Given the description of an element on the screen output the (x, y) to click on. 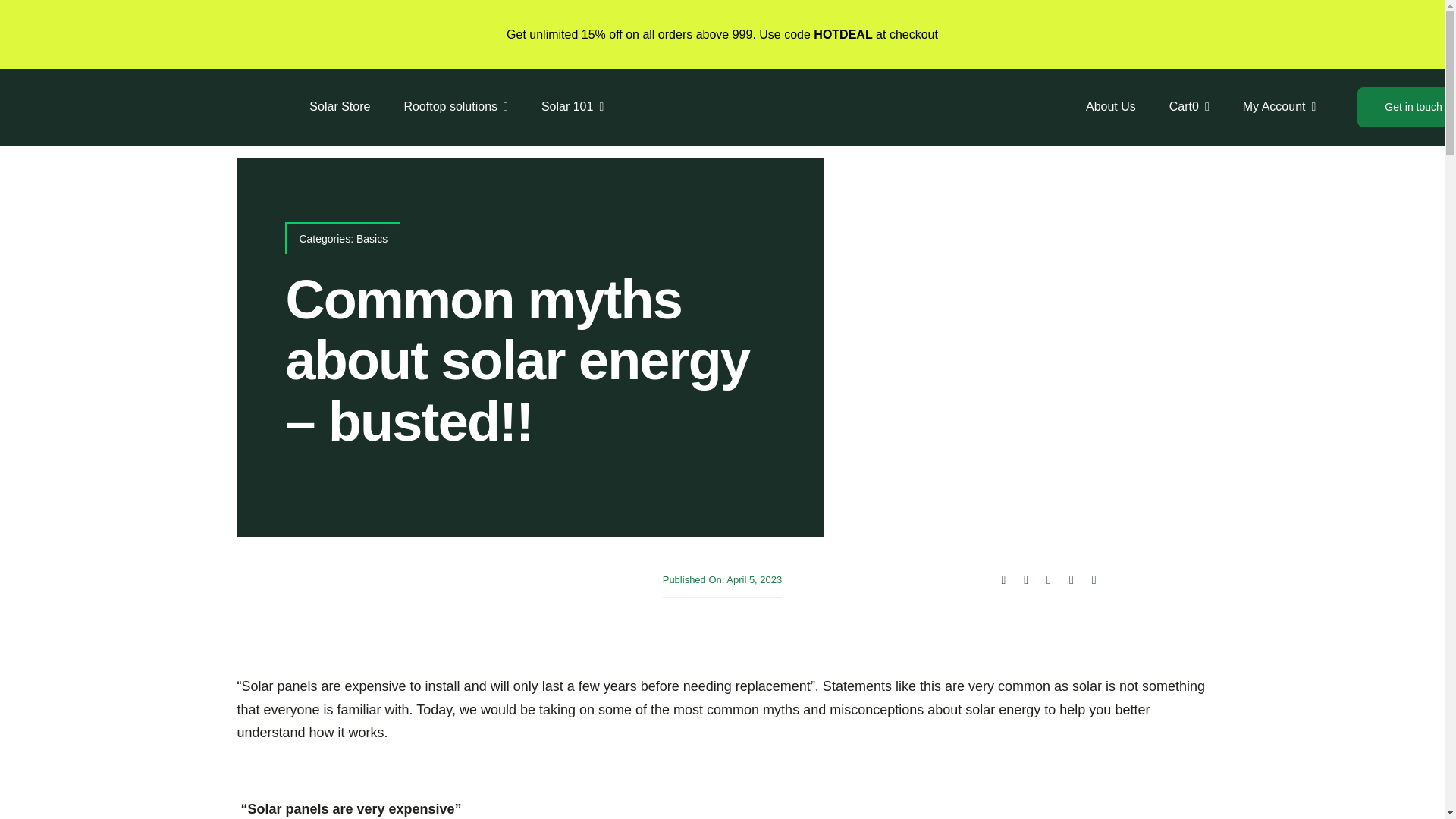
Facebook (1002, 579)
About Us (1110, 107)
Log In (1251, 230)
Pinterest (1093, 579)
Solar 101 (571, 107)
Telegram (1071, 579)
X (1025, 579)
Solar Store (1189, 107)
LinkedIn (339, 107)
Basics (1048, 579)
Rooftop solutions (371, 238)
My Account (454, 107)
